Given the description of an element on the screen output the (x, y) to click on. 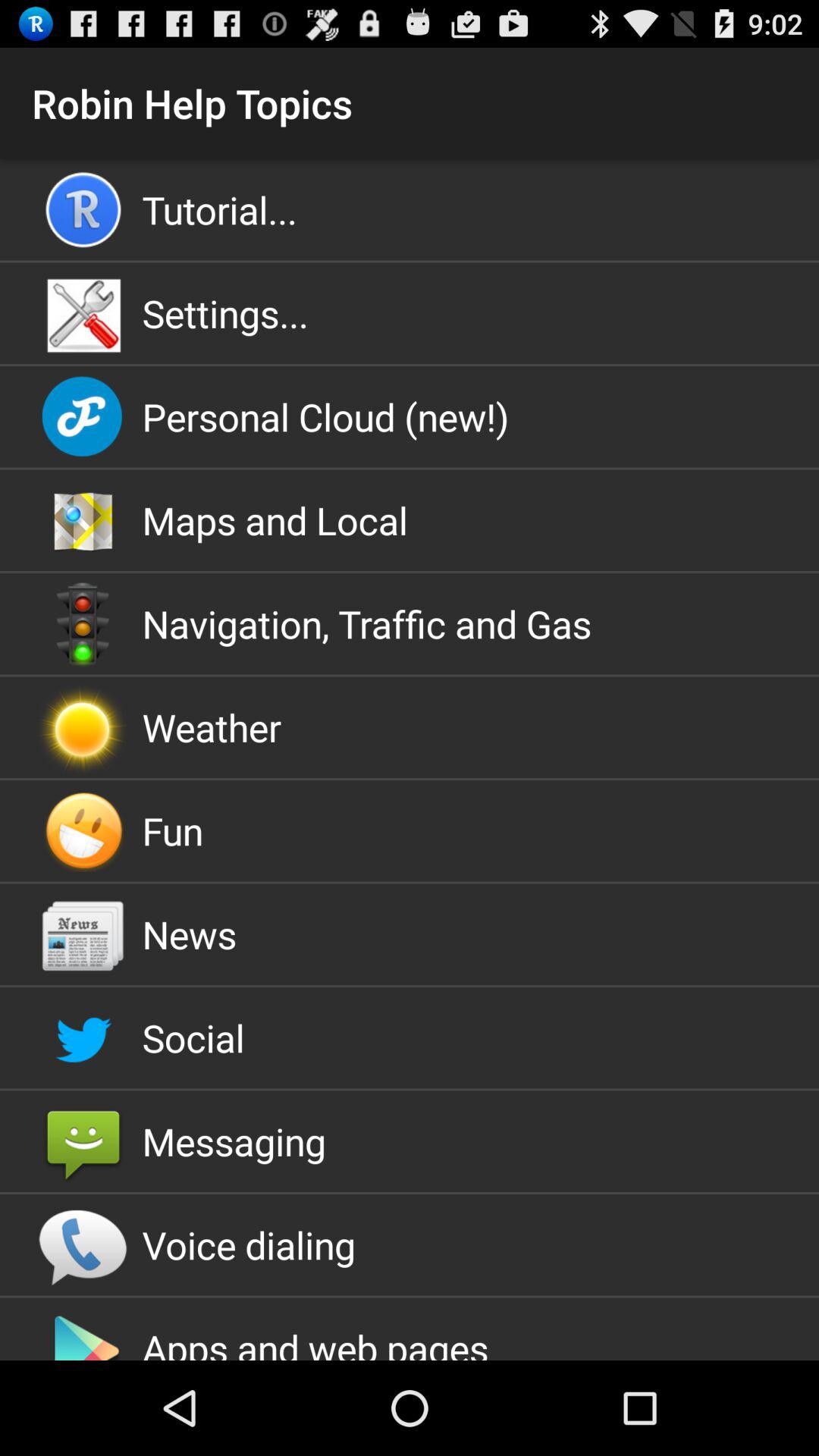
tap app above  weather (409, 623)
